Given the description of an element on the screen output the (x, y) to click on. 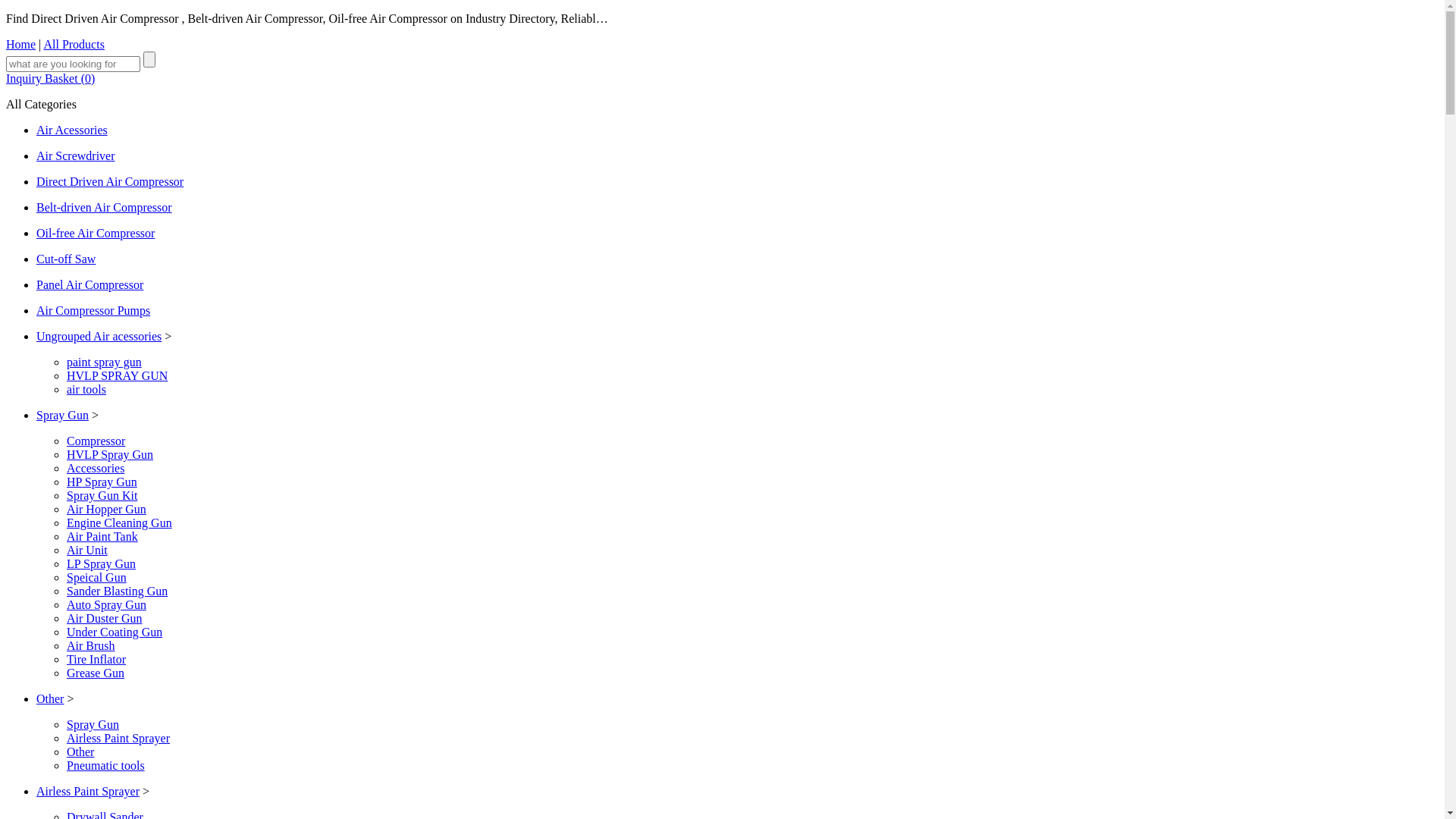
HVLP Spray Gun Element type: text (109, 454)
Air Unit Element type: text (86, 549)
HP Spray Gun Element type: text (101, 481)
Spray Gun Kit Element type: text (101, 495)
Pneumatic tools Element type: text (105, 765)
Under Coating Gun Element type: text (114, 631)
Cut-off Saw Element type: text (65, 258)
Other Element type: text (49, 698)
Accessories Element type: text (95, 467)
Air Compressor Pumps Element type: text (93, 310)
Engine Cleaning Gun Element type: text (119, 522)
Belt-driven Air Compressor Element type: text (104, 206)
Air Paint Tank Element type: text (102, 536)
Air Hopper Gun Element type: text (106, 508)
Spray Gun Element type: text (62, 414)
Oil-free Air Compressor Element type: text (95, 232)
Inquiry Basket (0) Element type: text (50, 78)
All Products Element type: text (73, 43)
Speical Gun Element type: text (96, 577)
Home Element type: text (20, 43)
Sander Blasting Gun Element type: text (116, 590)
Tire Inflator Element type: text (95, 658)
Air Brush Element type: text (90, 645)
Compressor Element type: text (95, 440)
Spray Gun Element type: text (92, 724)
HVLP SPRAY GUN Element type: text (116, 375)
Ungrouped Air acessories Element type: text (98, 335)
Direct Driven Air Compressor Element type: text (109, 181)
paint spray gun Element type: text (103, 361)
Auto Spray Gun Element type: text (106, 604)
air tools Element type: text (86, 388)
Other Element type: text (80, 751)
LP Spray Gun Element type: text (100, 563)
Panel Air Compressor Element type: text (89, 284)
Air Acessories Element type: text (71, 129)
Airless Paint Sprayer Element type: text (117, 737)
Airless Paint Sprayer Element type: text (87, 790)
Grease Gun Element type: text (95, 672)
Air Duster Gun Element type: text (104, 617)
Air Screwdriver Element type: text (75, 155)
